Given the description of an element on the screen output the (x, y) to click on. 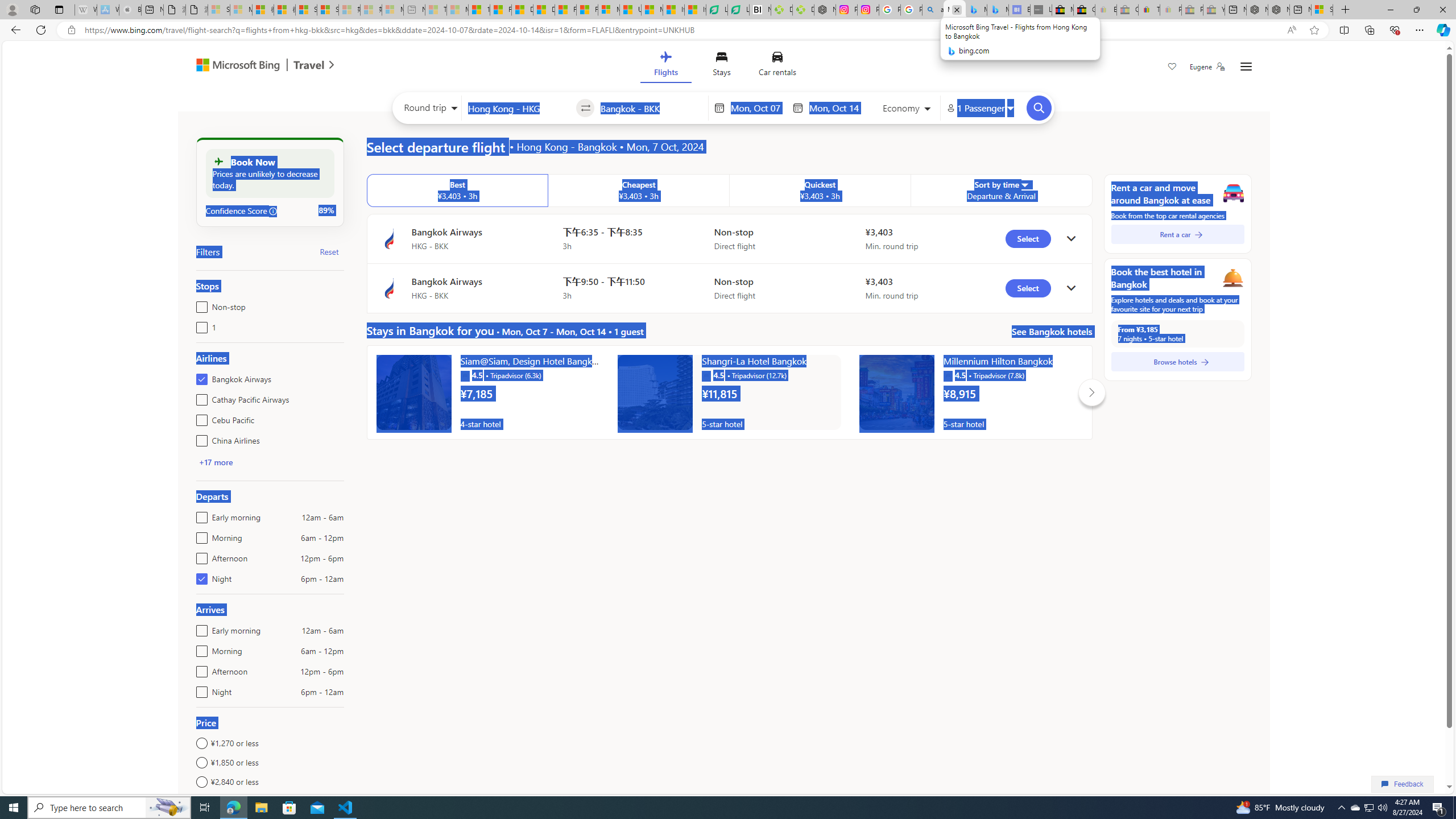
Descarga Driver Updater (802, 9)
Going to? (651, 107)
Bangkok Airways (199, 376)
Cebu Pacific (199, 417)
US Heat Deaths Soared To Record High Last Year (630, 9)
Sort by time Sorter Departure & Arrival (1001, 190)
Browse hotels (1177, 361)
1 Passenger (979, 108)
